Given the description of an element on the screen output the (x, y) to click on. 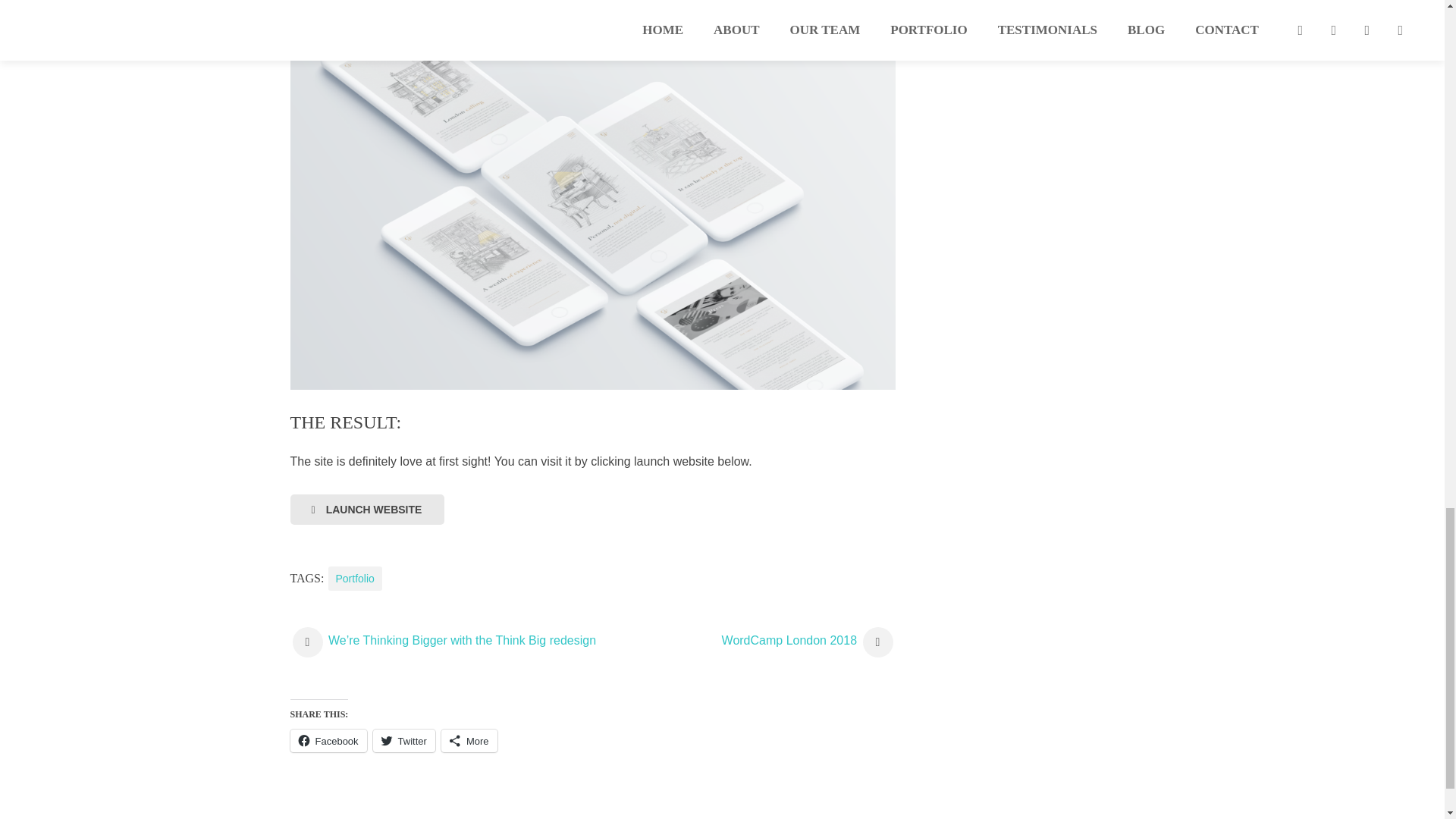
LAUNCH WEBSITE (366, 509)
Portfolio (354, 578)
Facebook (327, 740)
More (469, 740)
Click to share on Twitter (403, 740)
WordCamp London 2018 (808, 640)
Click to share on Facebook (327, 740)
Twitter (403, 740)
